Given the description of an element on the screen output the (x, y) to click on. 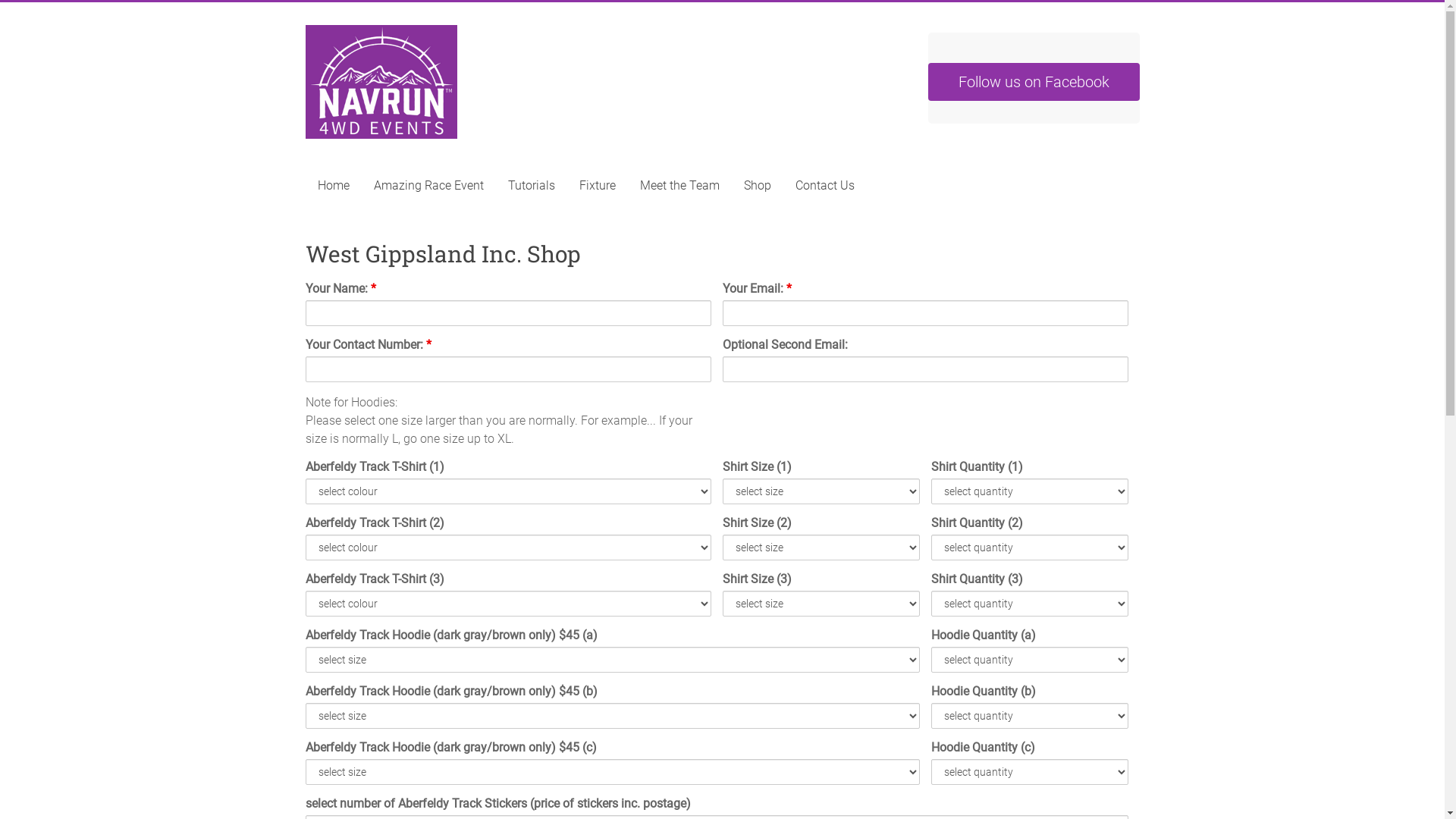
Meet the Team Element type: text (679, 185)
Shop Element type: text (756, 185)
Contact Us Element type: text (824, 185)
Navrun 4wd Events Element type: text (353, 74)
Tutorials Element type: text (531, 185)
Home Element type: text (332, 185)
Follow us on Facebook Element type: text (1033, 81)
Fixture Element type: text (597, 185)
Amazing Race Event Element type: text (427, 185)
